Given the description of an element on the screen output the (x, y) to click on. 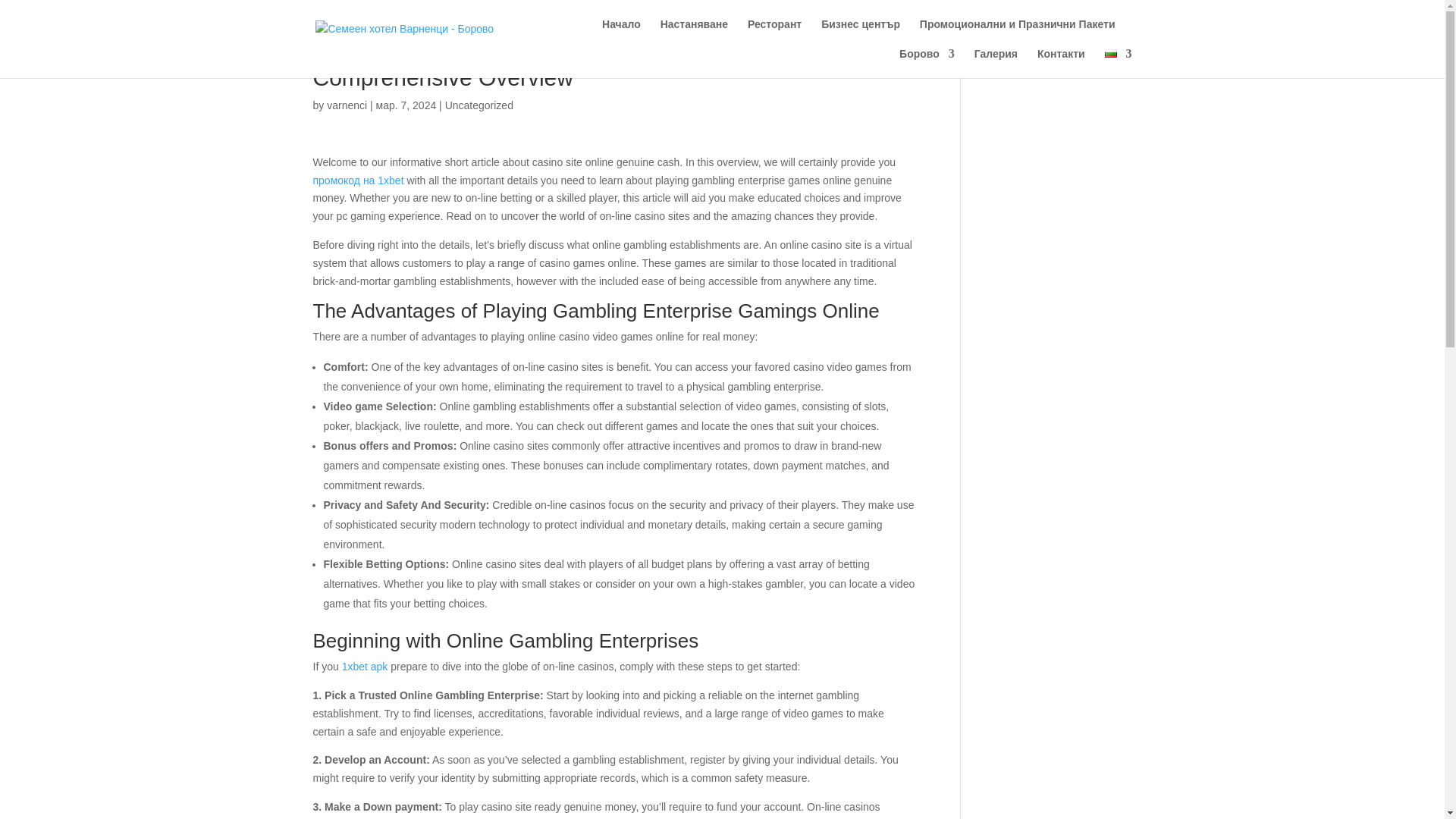
1xbet apk (365, 666)
Uncategorized (479, 105)
Posts by varnenci (346, 105)
varnenci (346, 105)
